Given the description of an element on the screen output the (x, y) to click on. 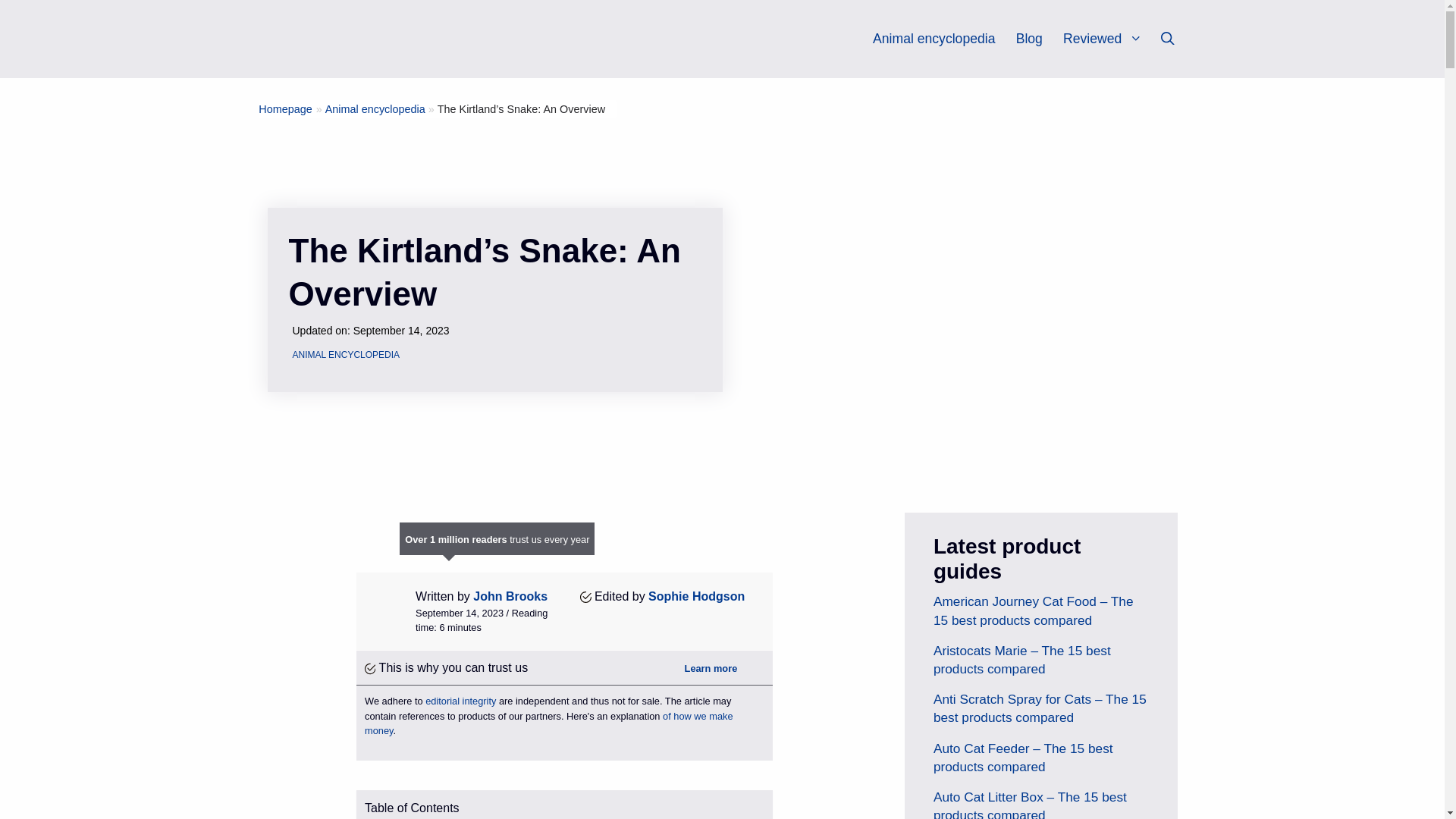
Author-Name (510, 595)
Author-Name (695, 595)
Animal encyclopedia (933, 39)
Category Name (374, 109)
Reviewed (1108, 39)
